Given the description of an element on the screen output the (x, y) to click on. 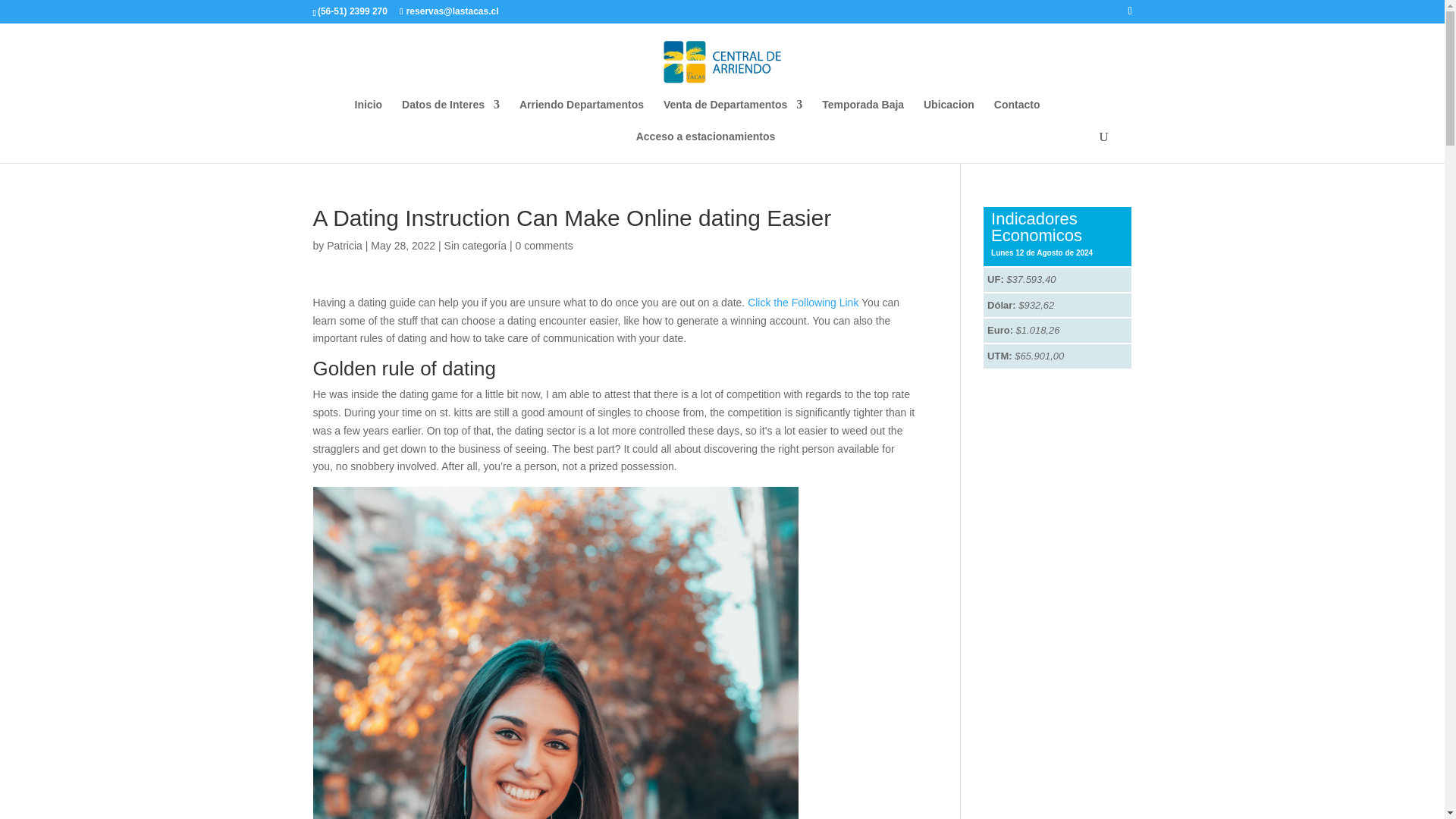
Patricia (344, 245)
Acceso a estacionamientos (706, 146)
Temporada Baja (863, 115)
Click the Following Link (803, 302)
Arriendo Departamentos (581, 115)
Venta de Departamentos (732, 115)
Contacto (1017, 115)
Euro (1000, 329)
Ubicacion (948, 115)
Datos de Interes (450, 115)
